Given the description of an element on the screen output the (x, y) to click on. 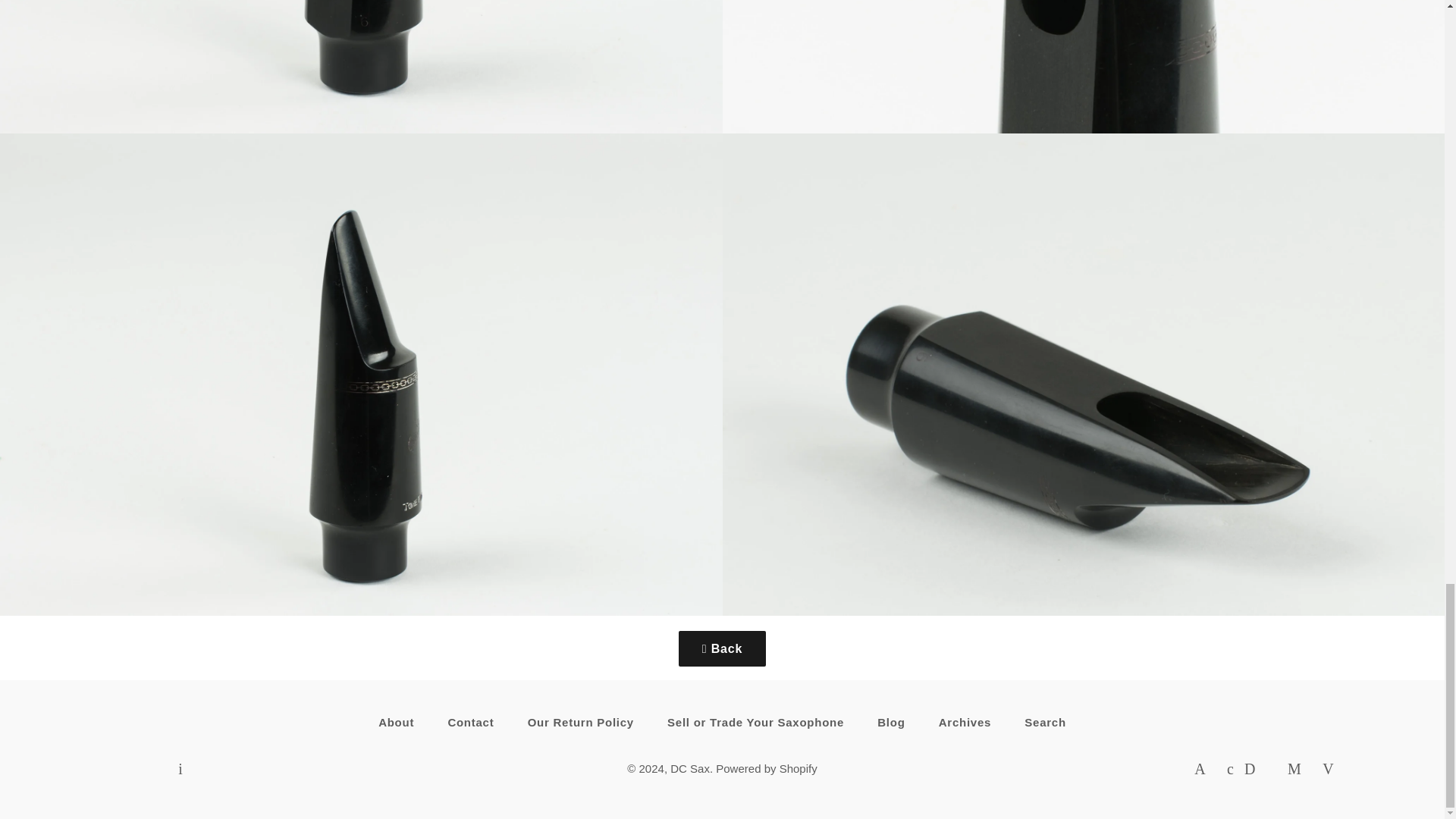
Blog (890, 721)
About (395, 721)
Powered by Shopify (766, 768)
Back (721, 648)
Contact (470, 721)
Instagram (180, 769)
DC Sax on Instagram (180, 769)
Our Return Policy (580, 721)
Sell or Trade Your Saxophone (755, 721)
DC Sax (689, 768)
Search (1045, 721)
Archives (964, 721)
